Given the description of an element on the screen output the (x, y) to click on. 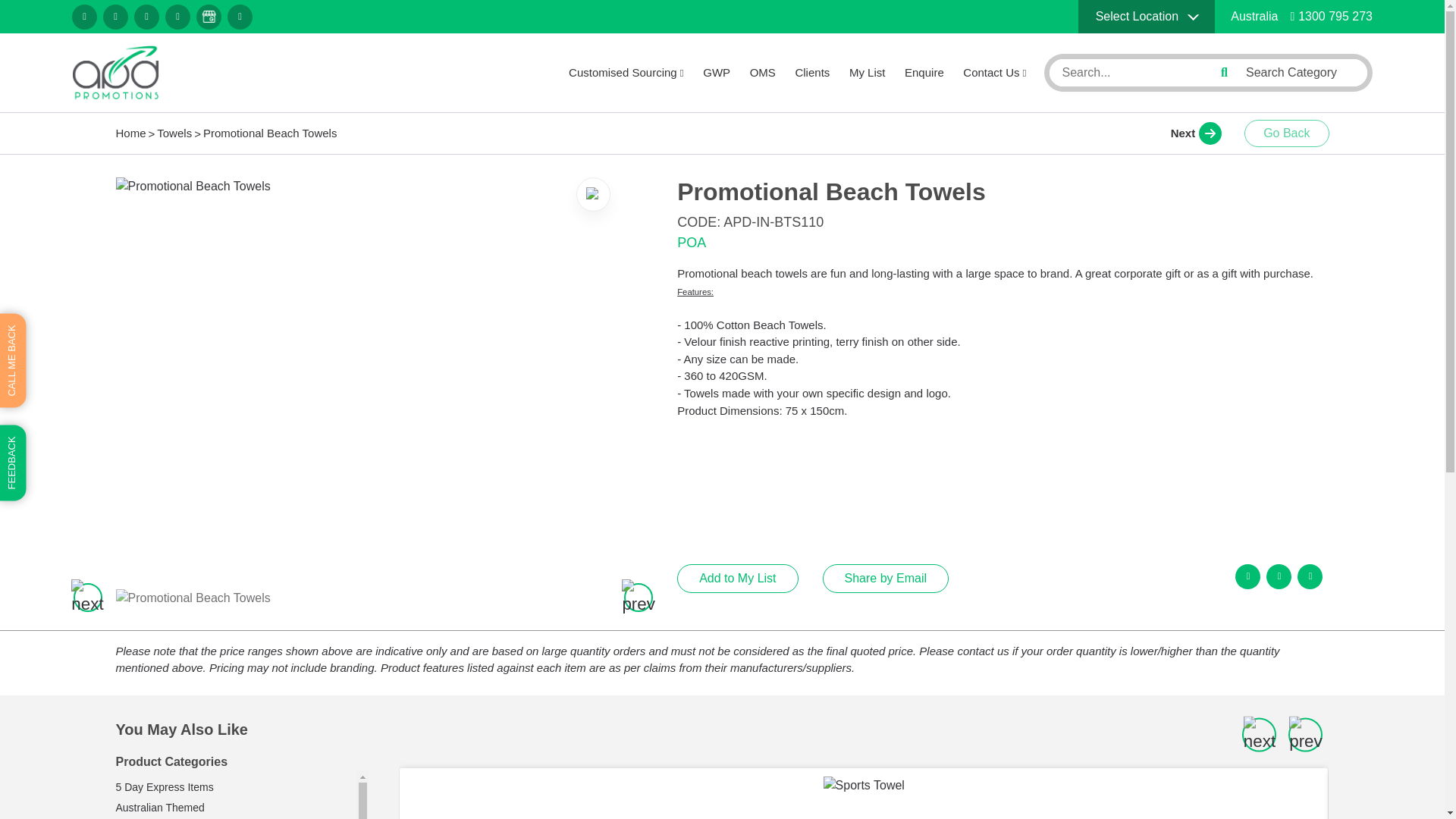
Enquire (923, 72)
Search Category (1300, 71)
1300 795 273 (1331, 16)
Clients (811, 72)
Customised Sourcing (626, 72)
Contact Us (994, 72)
Select Location (1146, 16)
OMS (762, 72)
My List (866, 72)
GWP (716, 72)
